Given the description of an element on the screen output the (x, y) to click on. 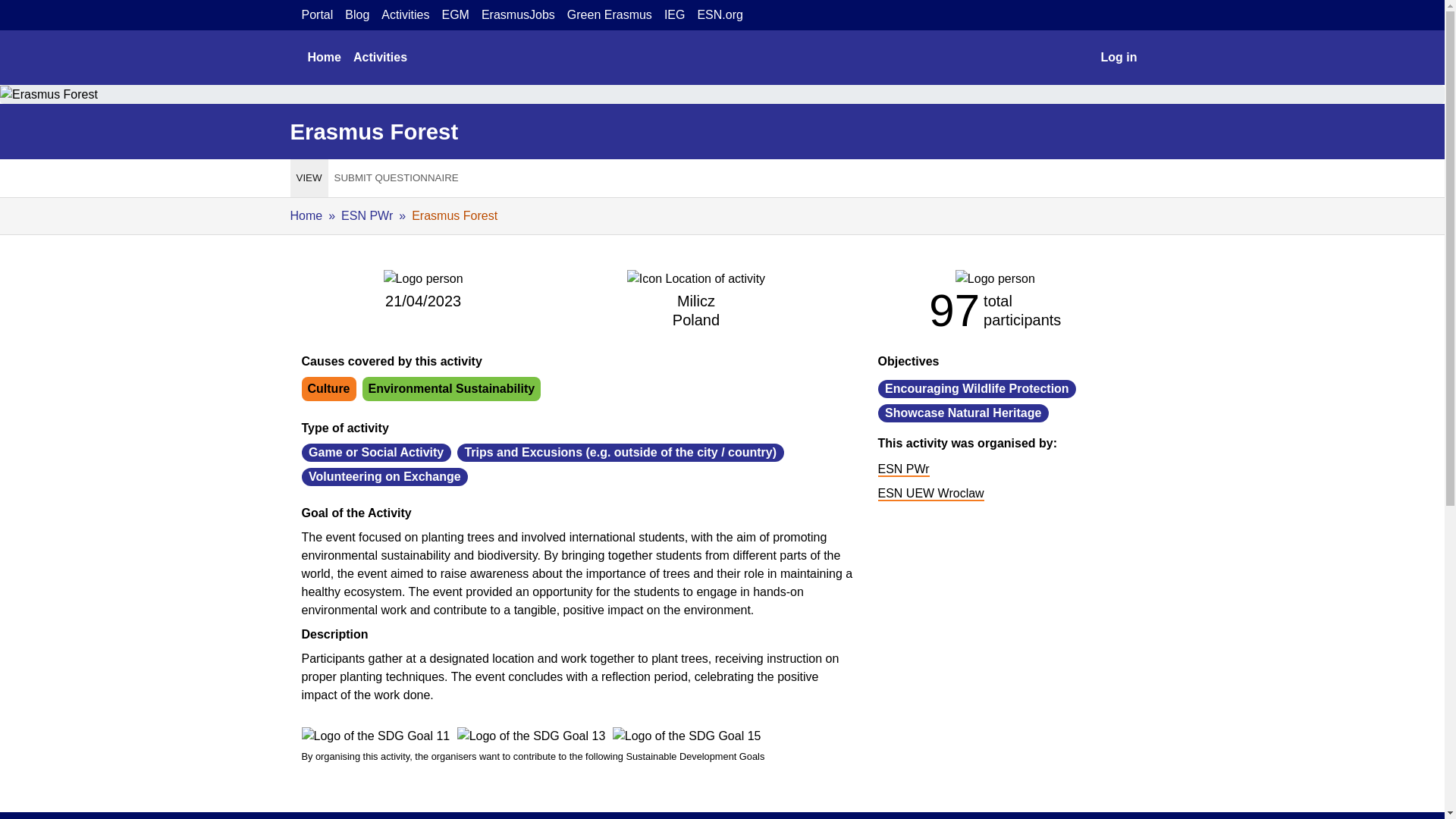
Goal 11: Sustainable Cities and Communities (375, 736)
Home (305, 215)
Culture (328, 388)
Activities (405, 15)
Blog (357, 15)
Green Erasmus (609, 15)
Activities (380, 57)
IEG (674, 15)
List all activities (380, 57)
ESN UEW Wroclaw (930, 493)
Game or Social Activity (376, 451)
Goal 15: Life on Land (686, 736)
ErasmusJobs (517, 15)
Volunteering on Exchange (384, 476)
EGM (454, 15)
